Given the description of an element on the screen output the (x, y) to click on. 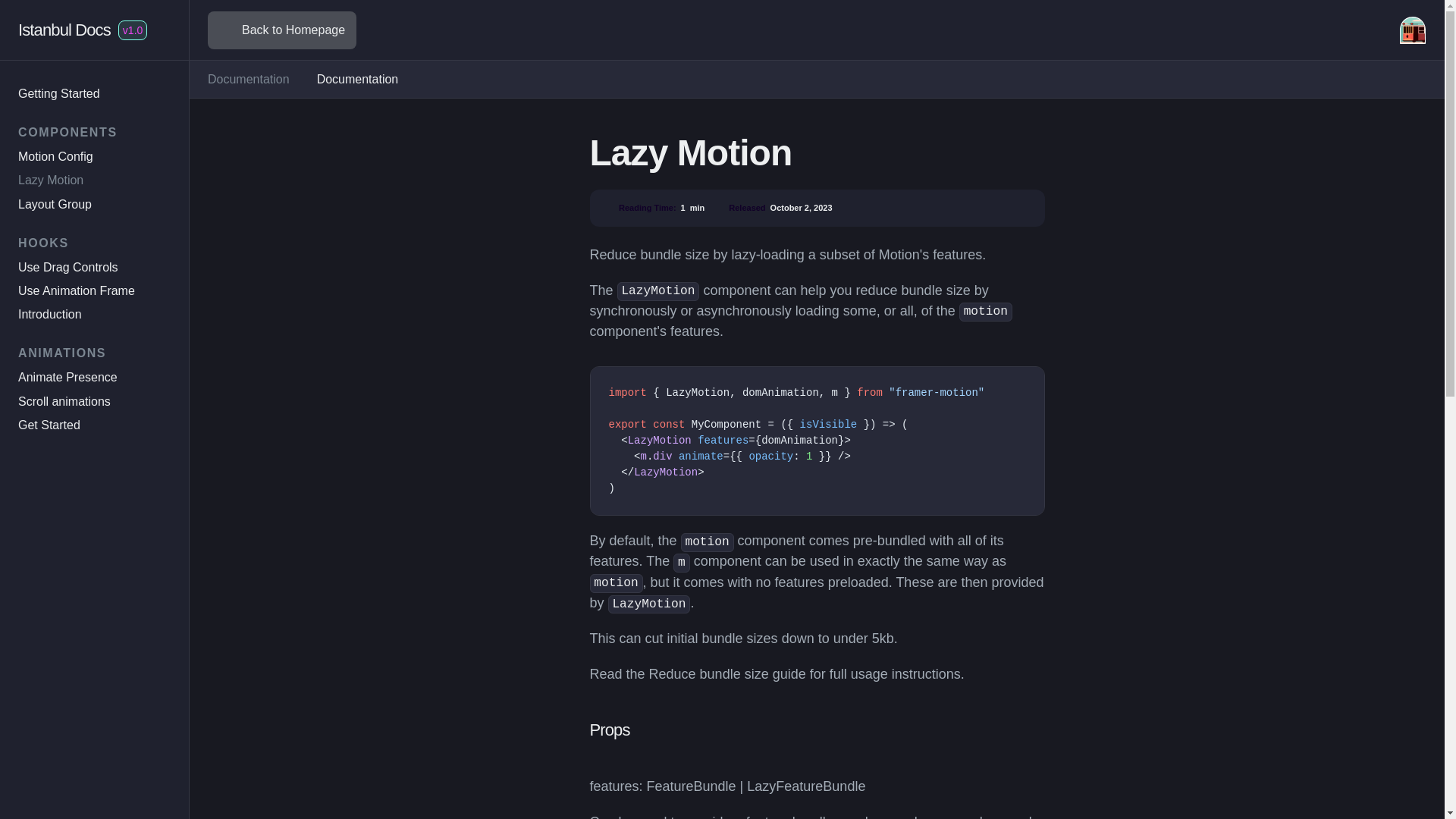
Back to Homepage (282, 30)
Getting Started (58, 92)
Get Started (48, 424)
Introduction (49, 314)
Motion Config (55, 155)
Layout Group (54, 204)
Scroll animations (63, 400)
Lazy Motion (49, 179)
Use Drag Controls (67, 267)
Documentation (248, 78)
